Given the description of an element on the screen output the (x, y) to click on. 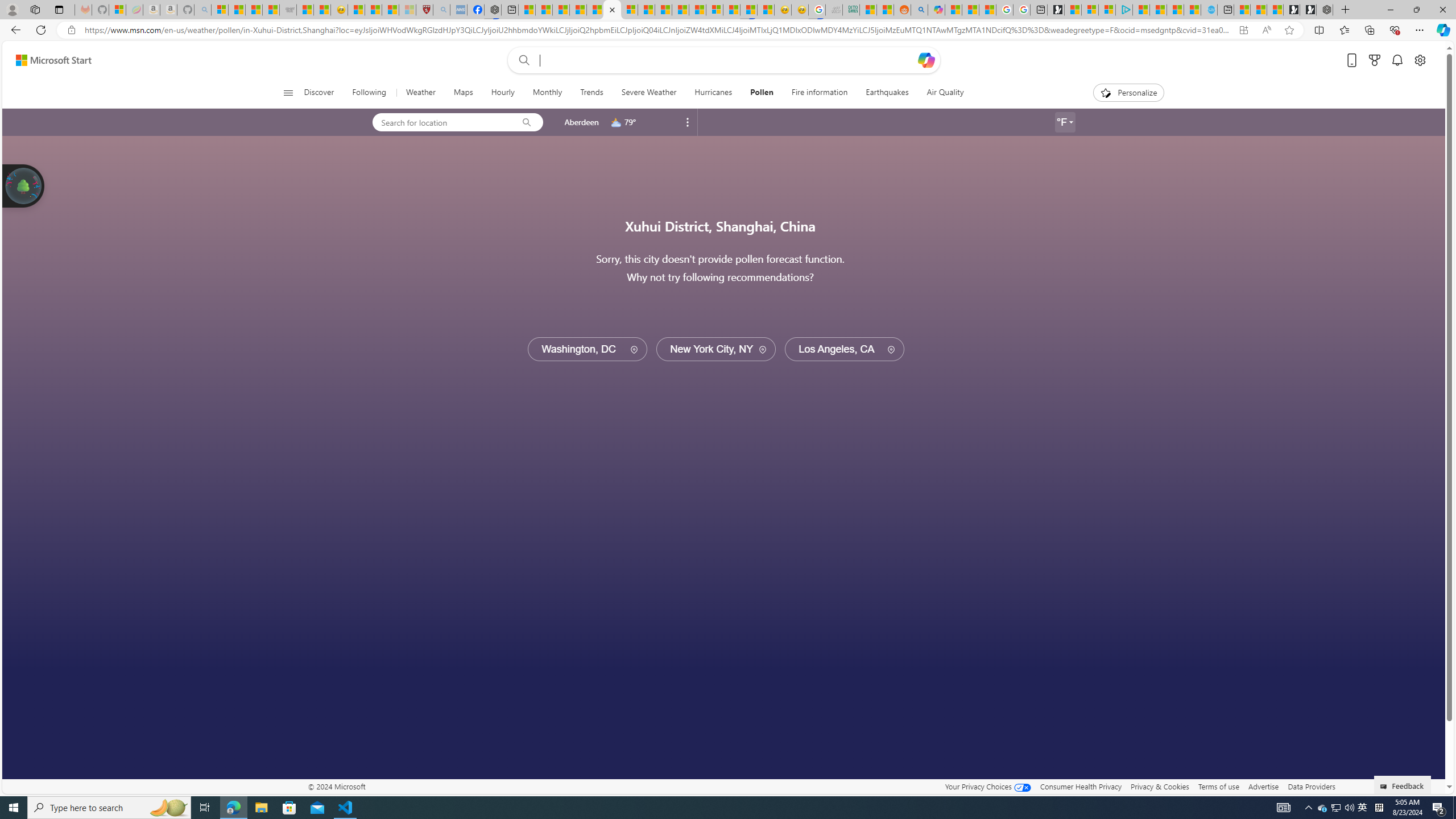
Air Quality (944, 92)
Fire information (819, 92)
